Given the description of an element on the screen output the (x, y) to click on. 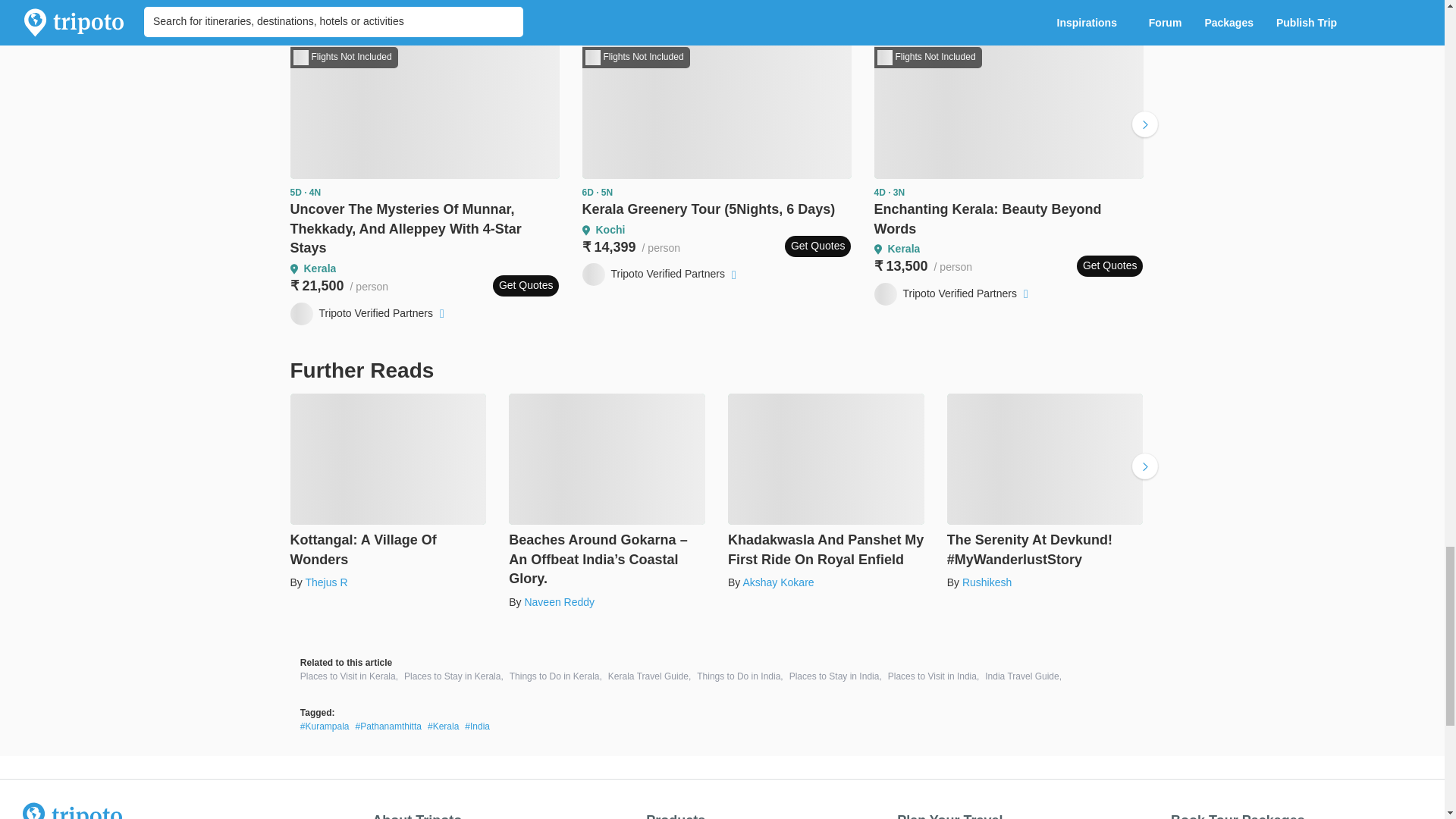
Tripoto Verified Partners (660, 273)
Tripoto Verified Partners (367, 313)
Get Quotes (817, 246)
Get Quotes (526, 285)
